Given the description of an element on the screen output the (x, y) to click on. 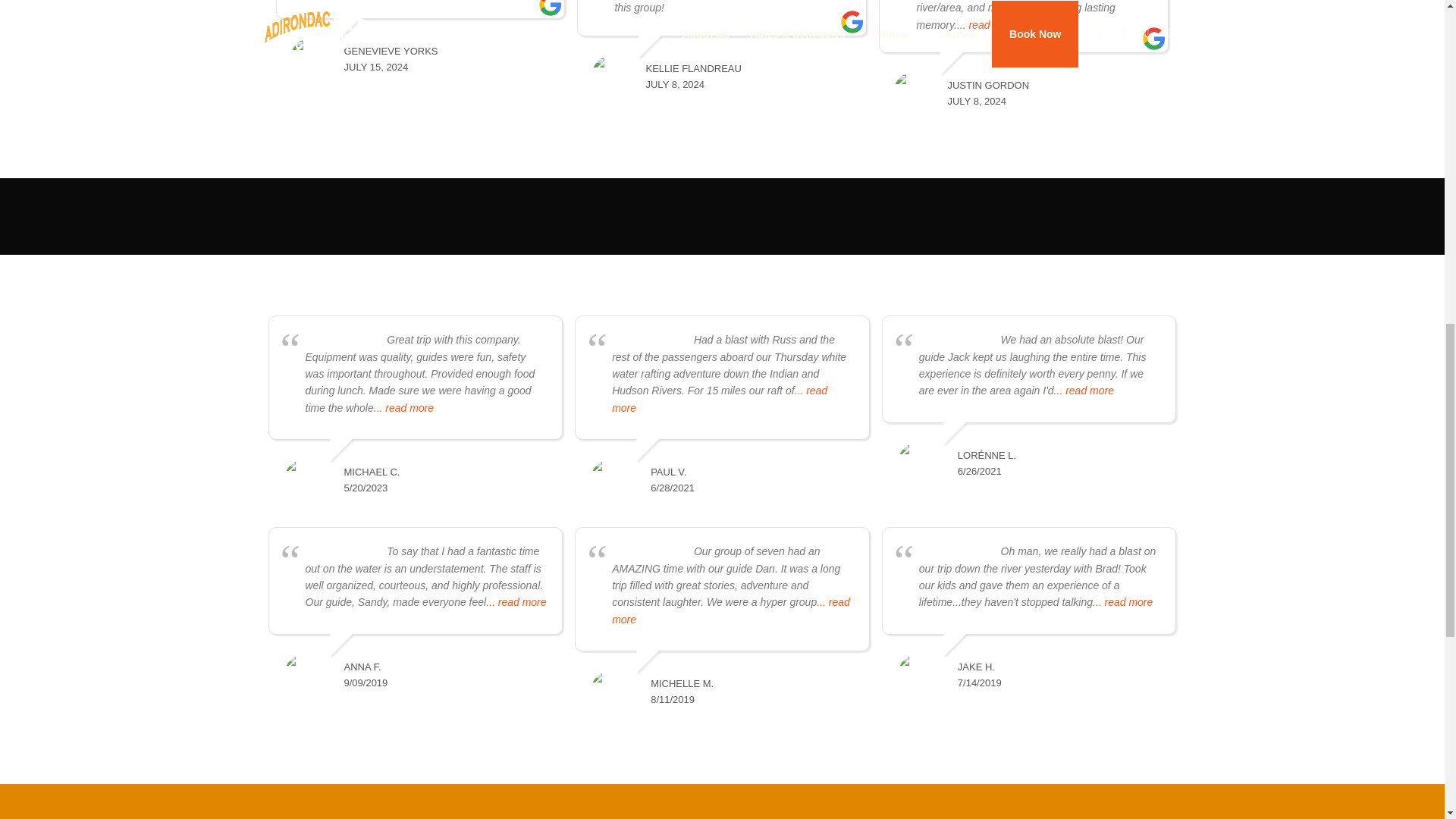
... read more (986, 24)
... read more (403, 408)
... read more (719, 398)
